Given the description of an element on the screen output the (x, y) to click on. 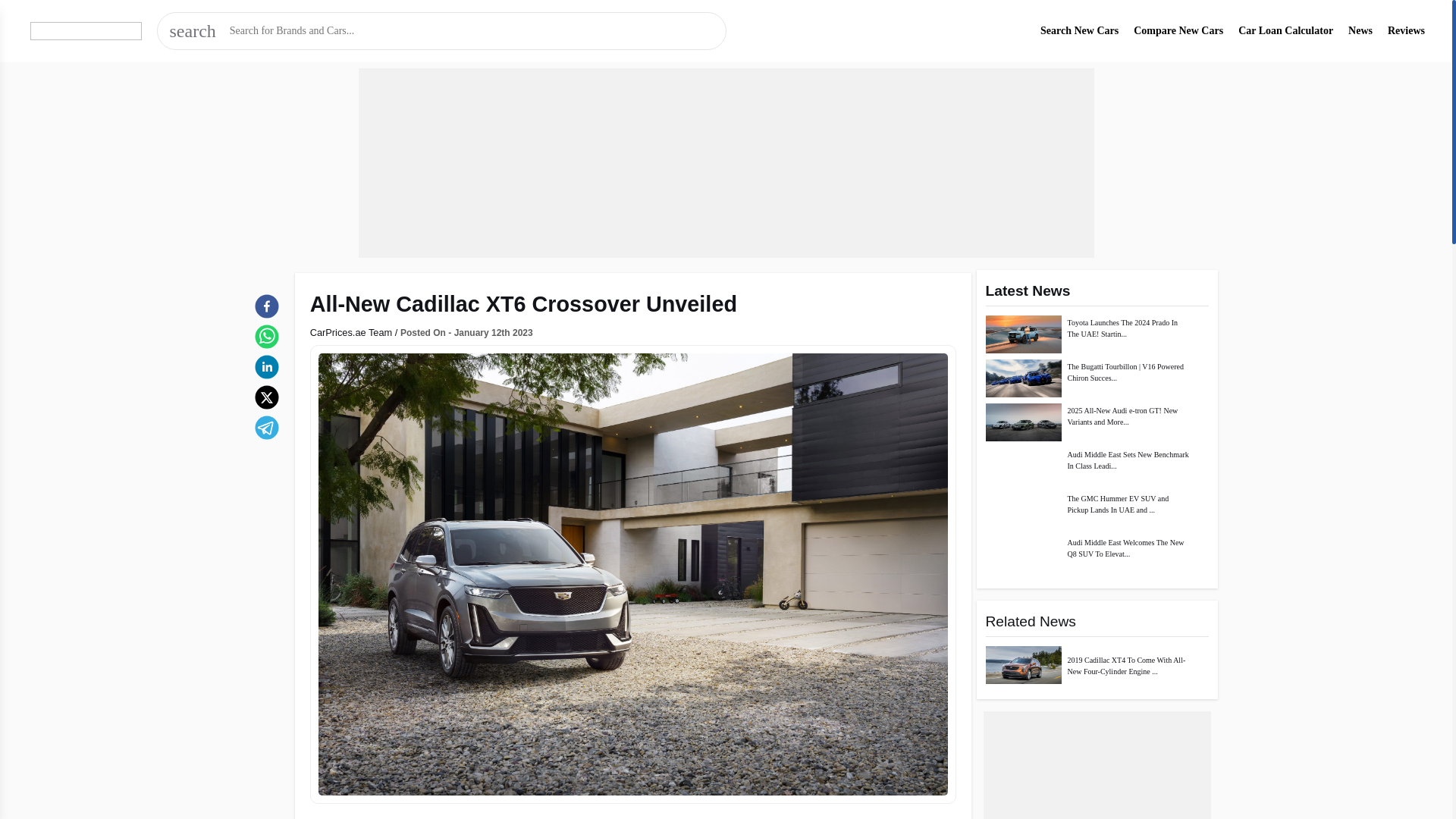
News (1360, 30)
Car Loan Calculator (1286, 30)
Search New Cars (1079, 30)
Compare New Cars (1178, 30)
Reviews (1406, 30)
